Given the description of an element on the screen output the (x, y) to click on. 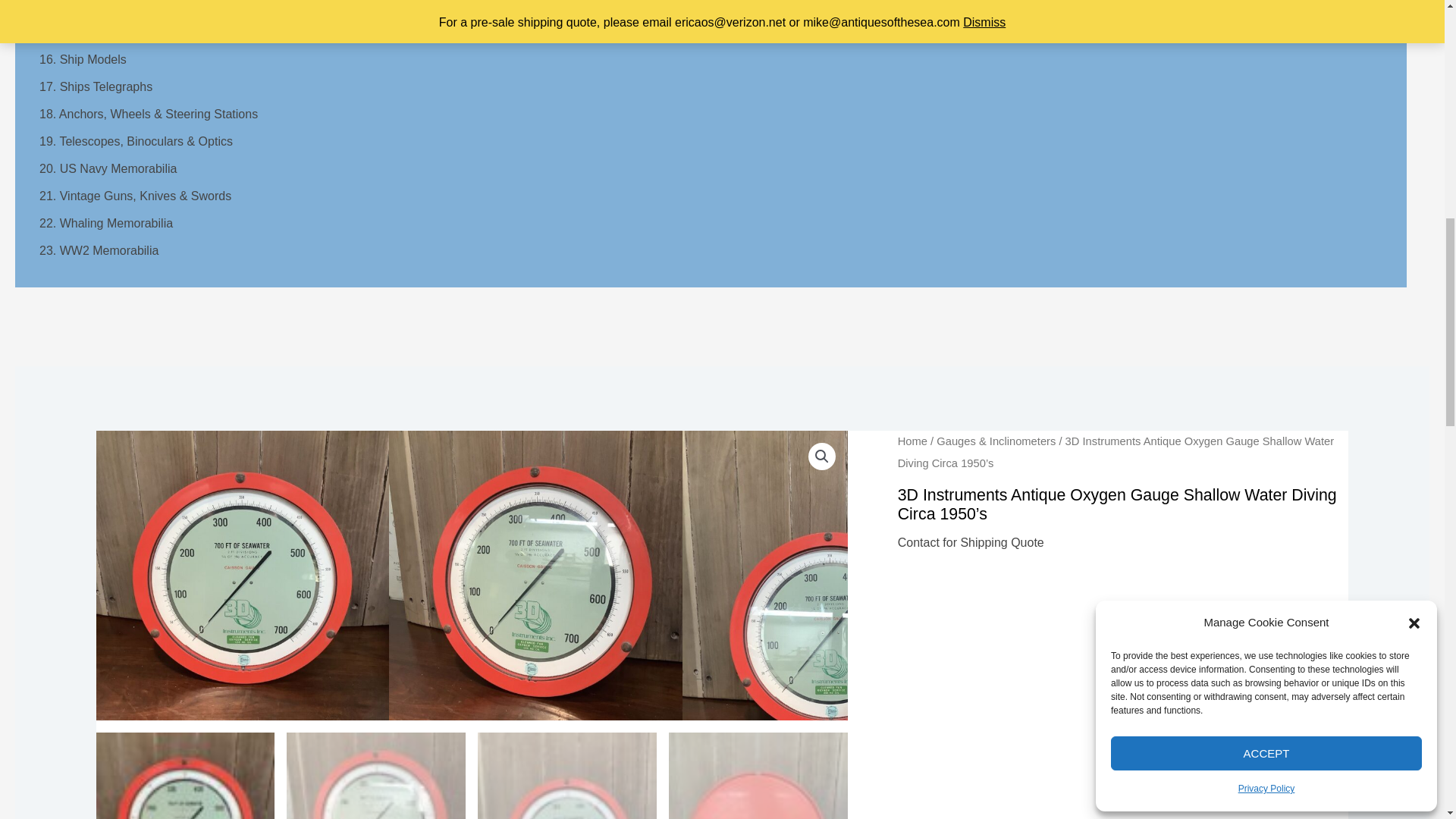
16. Ship Models (82, 59)
17. Ships Telegraphs (95, 86)
s-l1600 (242, 575)
s-l1600-2 (828, 602)
15. Ship Bells (76, 31)
s-l1600-1 (534, 582)
14. Propellers (77, 5)
20. US Navy Memorabilia (107, 168)
